Given the description of an element on the screen output the (x, y) to click on. 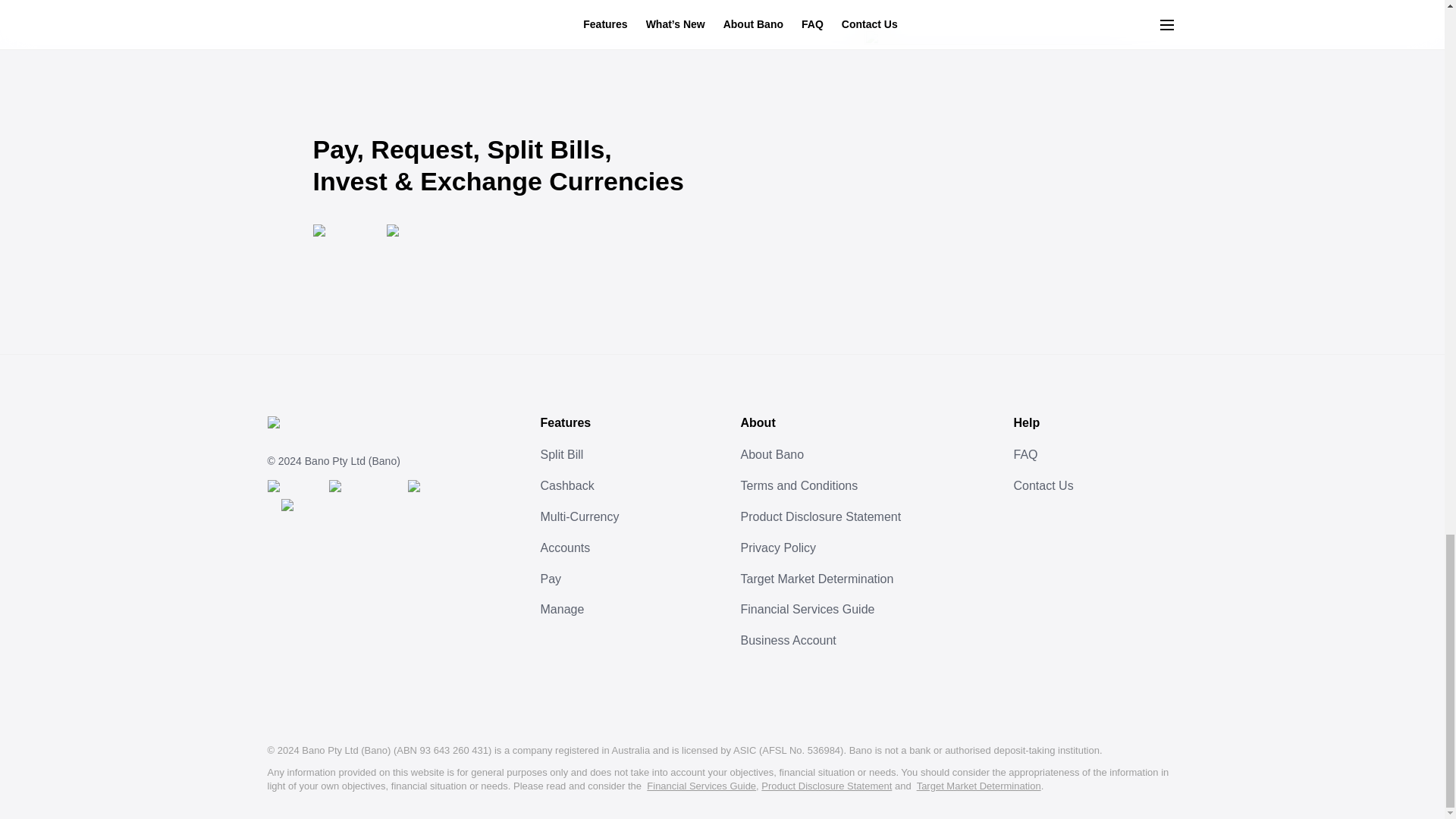
Split Bill (632, 454)
Financial Services Guide (868, 609)
Multi-Currency (632, 517)
Cashback (632, 486)
Target Market Determination (868, 579)
Pay (632, 579)
Target Market Determination (979, 785)
Manage (632, 609)
About Bano (868, 454)
Business Account (868, 640)
